Given the description of an element on the screen output the (x, y) to click on. 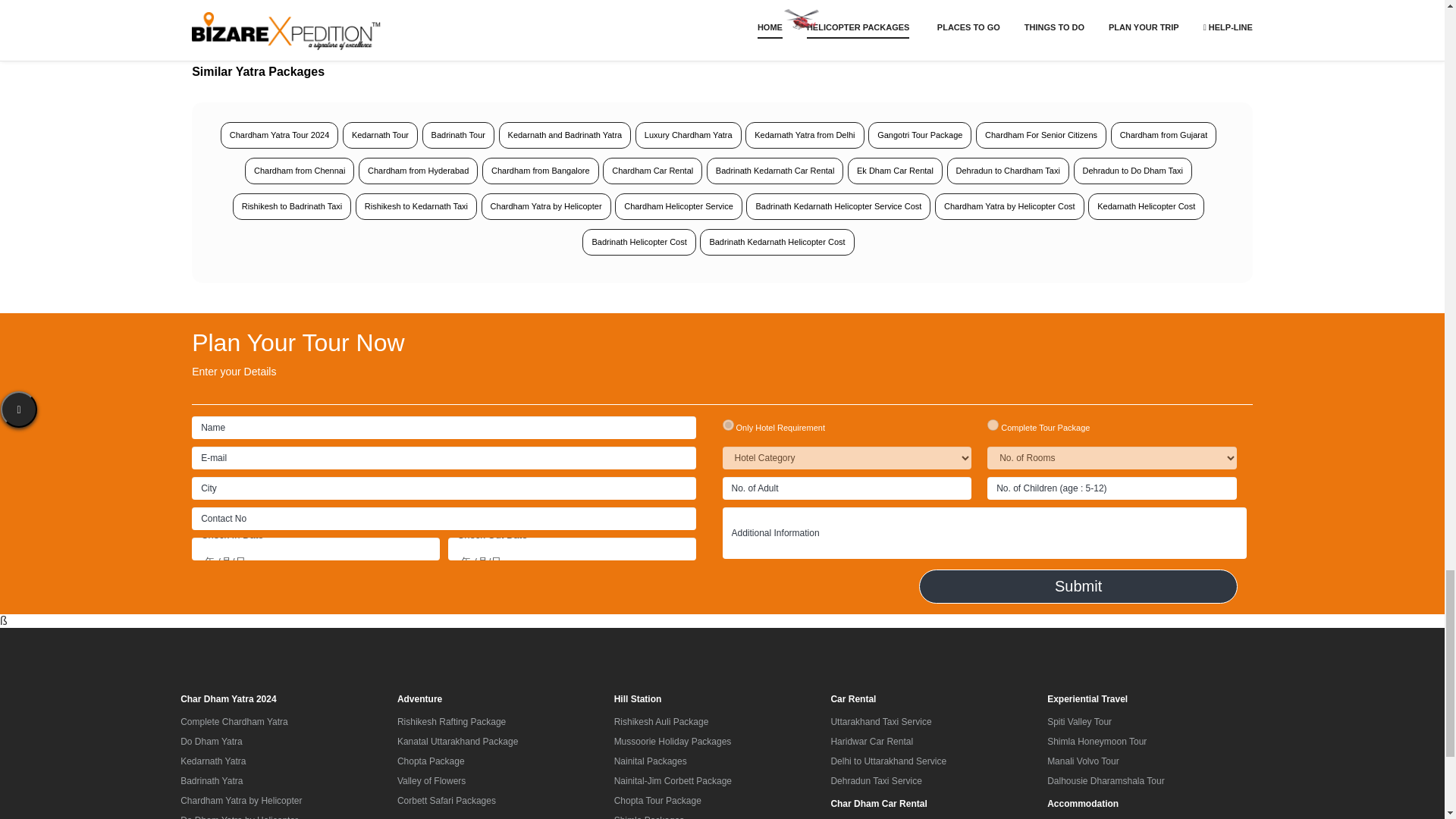
Only Hotel Requirement (727, 424)
Complete Tour Package (992, 424)
